Given the description of an element on the screen output the (x, y) to click on. 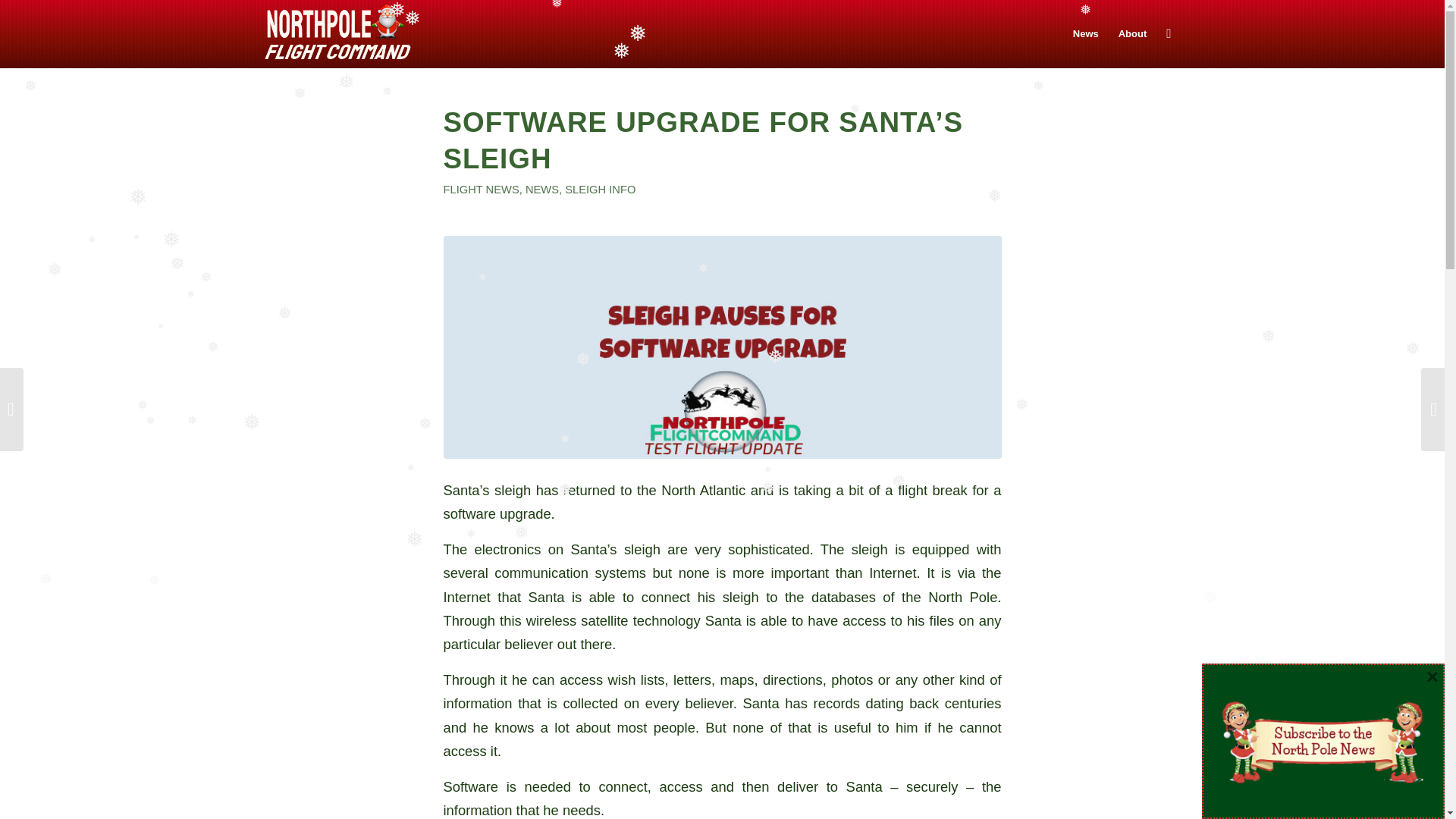
073121 (721, 346)
SLEIGH INFO (599, 189)
FLIGHT NEWS (480, 189)
logo5 (337, 33)
NEWS (542, 189)
